Given the description of an element on the screen output the (x, y) to click on. 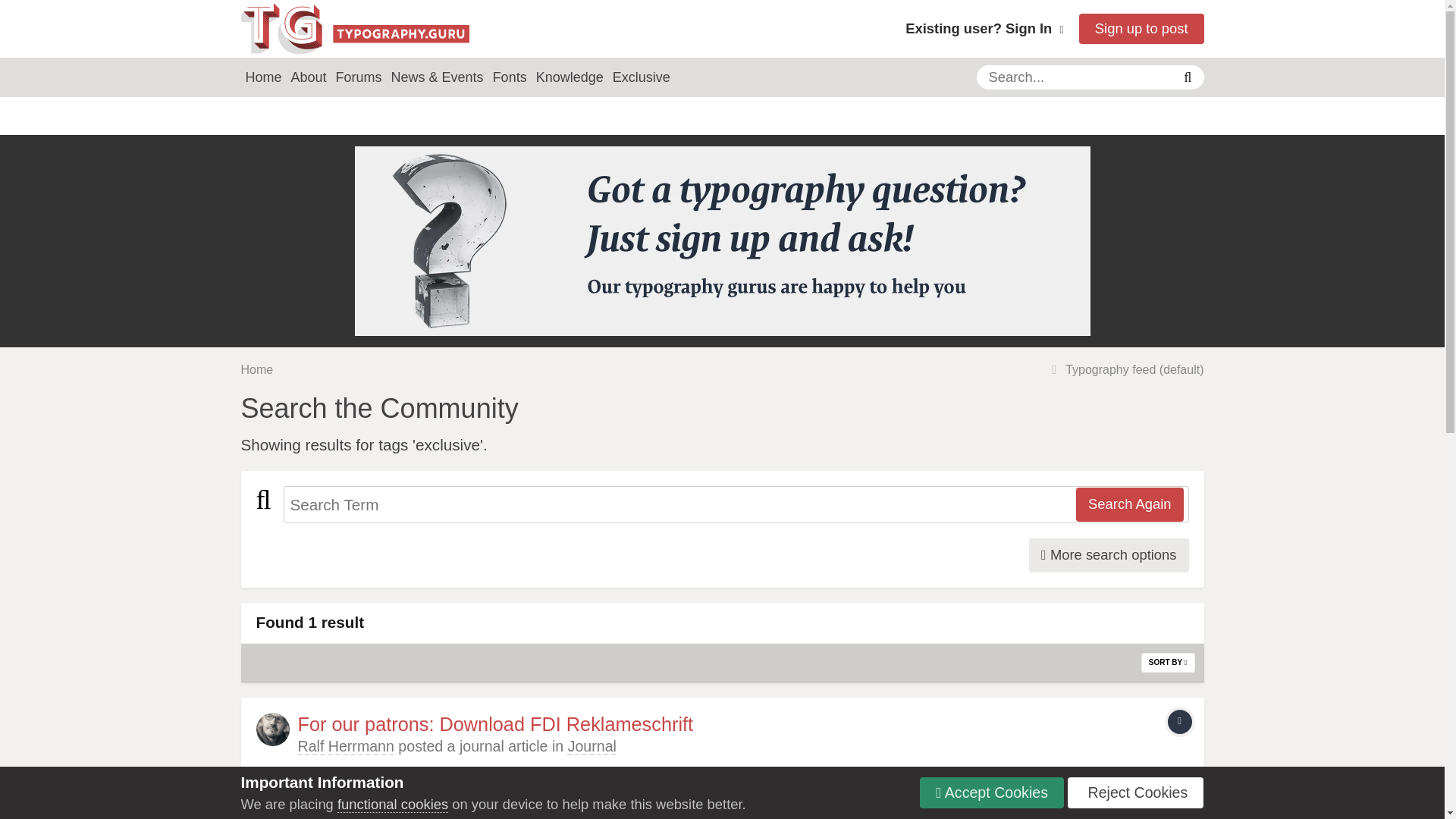
Fonts (509, 77)
Existing user? Sign In   (983, 28)
Go to Ralf Herrmann's profile (272, 729)
Journal article (1179, 721)
Forums (359, 77)
Sign up to post (1141, 28)
Exclusive (641, 77)
Home (263, 77)
Home (257, 369)
About (308, 77)
Go to Ralf Herrmann's profile (345, 745)
Knowledge (569, 77)
